Given the description of an element on the screen output the (x, y) to click on. 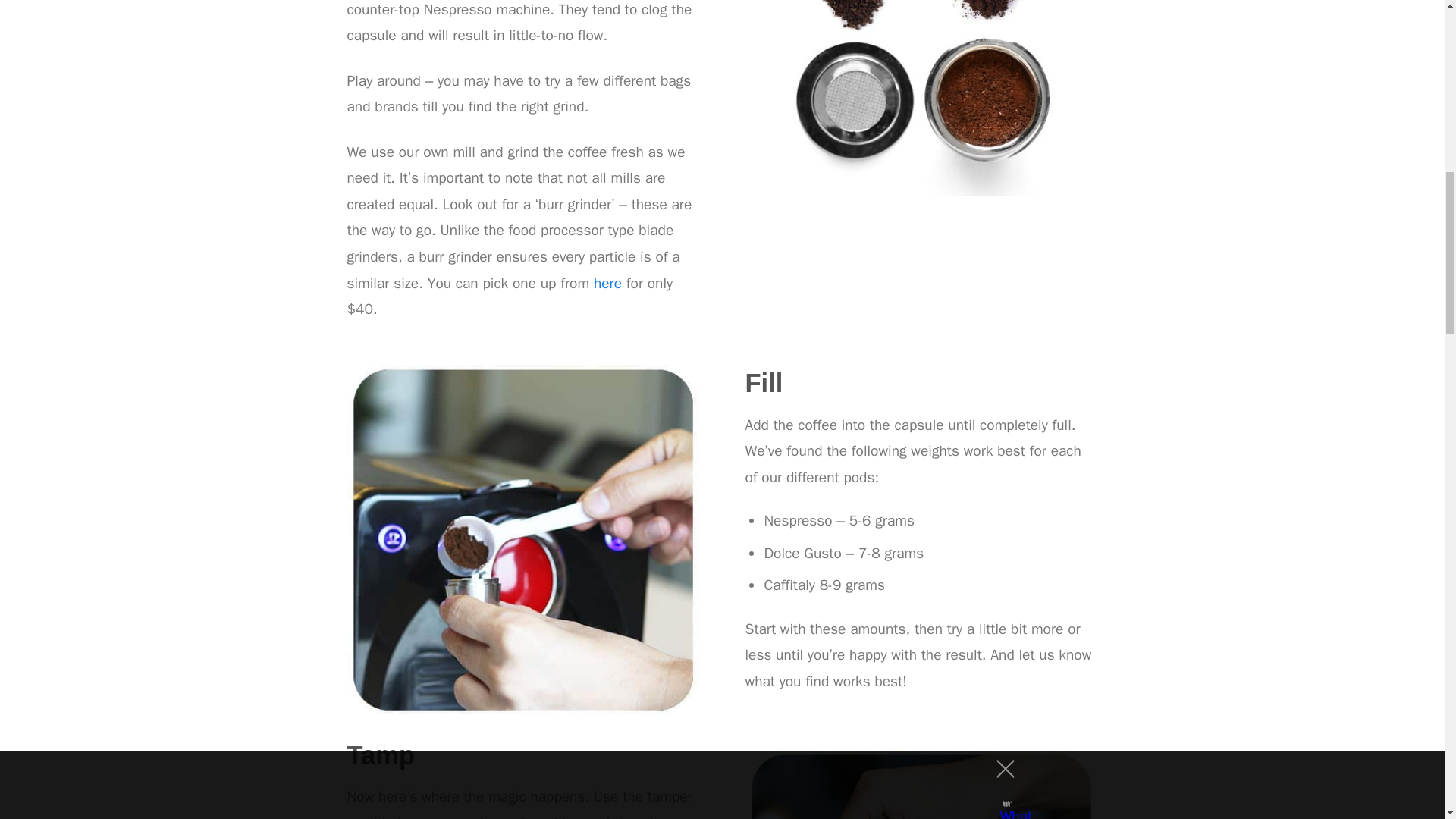
How To Use Your Green Nespresso Pods 1 (920, 97)
How To Use Your Green Nespresso Pods 2 (523, 540)
How To Use Your Green Nespresso Pods 3 (920, 784)
